Given the description of an element on the screen output the (x, y) to click on. 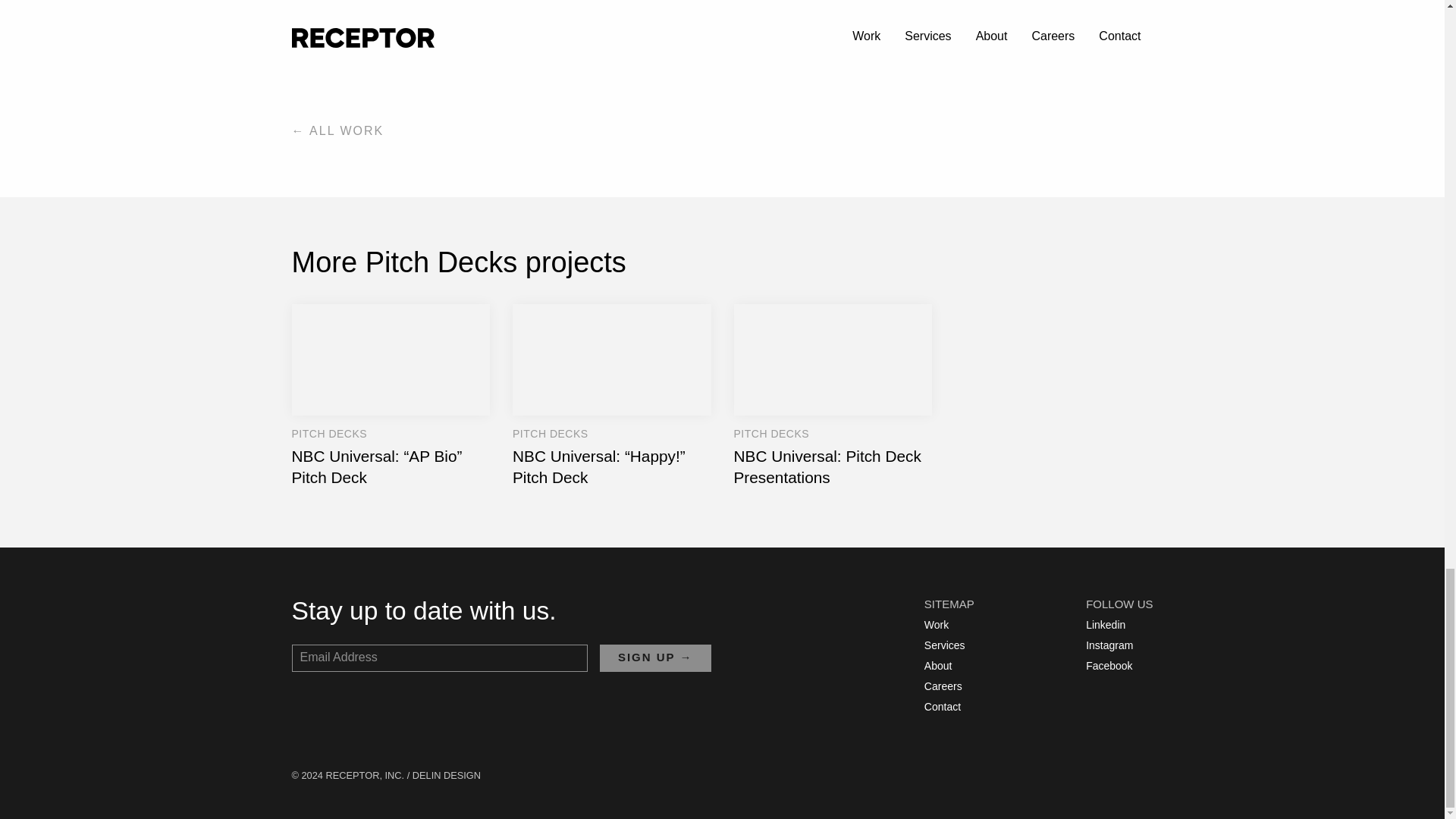
Careers (944, 686)
NBC Universal: Pitch Deck Presentations (833, 395)
About (944, 666)
Linkedin (1114, 625)
Work (944, 625)
Instagram (1114, 645)
Contact (944, 706)
Services (944, 645)
Facebook (1114, 666)
